Given the description of an element on the screen output the (x, y) to click on. 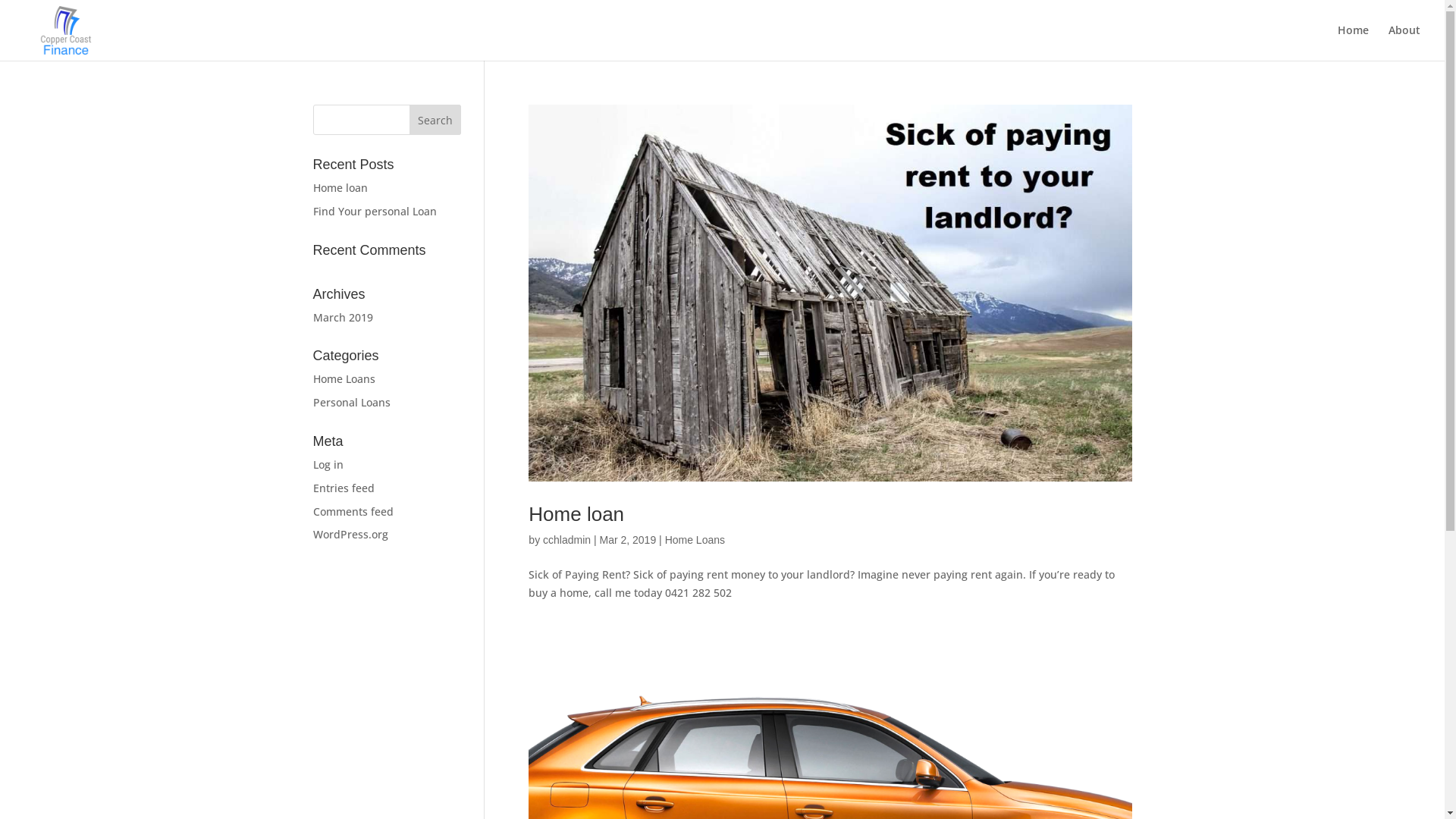
Home Element type: text (1352, 42)
March 2019 Element type: text (342, 317)
Entries feed Element type: text (342, 487)
Comments feed Element type: text (352, 511)
WordPress.org Element type: text (349, 534)
Home loan Element type: text (339, 187)
Home Loans Element type: text (343, 378)
Find Your personal Loan Element type: text (374, 210)
About Element type: text (1404, 42)
Search Element type: text (435, 119)
cchladmin Element type: text (566, 539)
Home Loans Element type: text (694, 539)
Personal Loans Element type: text (350, 402)
Log in Element type: text (327, 464)
Home loan Element type: text (576, 513)
